Given the description of an element on the screen output the (x, y) to click on. 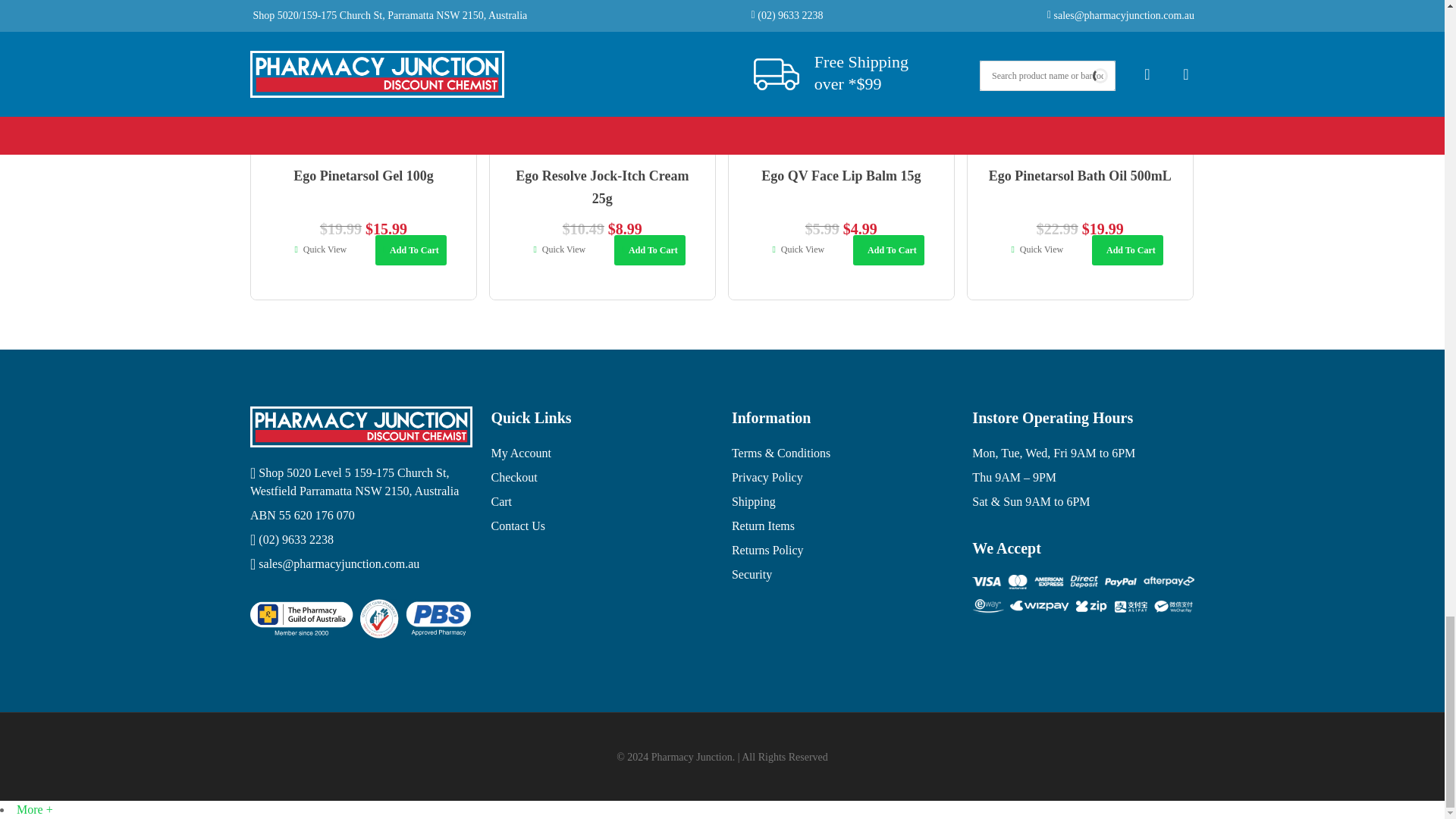
Our Address (360, 482)
How PayPal Works (1082, 594)
Phone (360, 539)
Mail Us (360, 564)
